Given the description of an element on the screen output the (x, y) to click on. 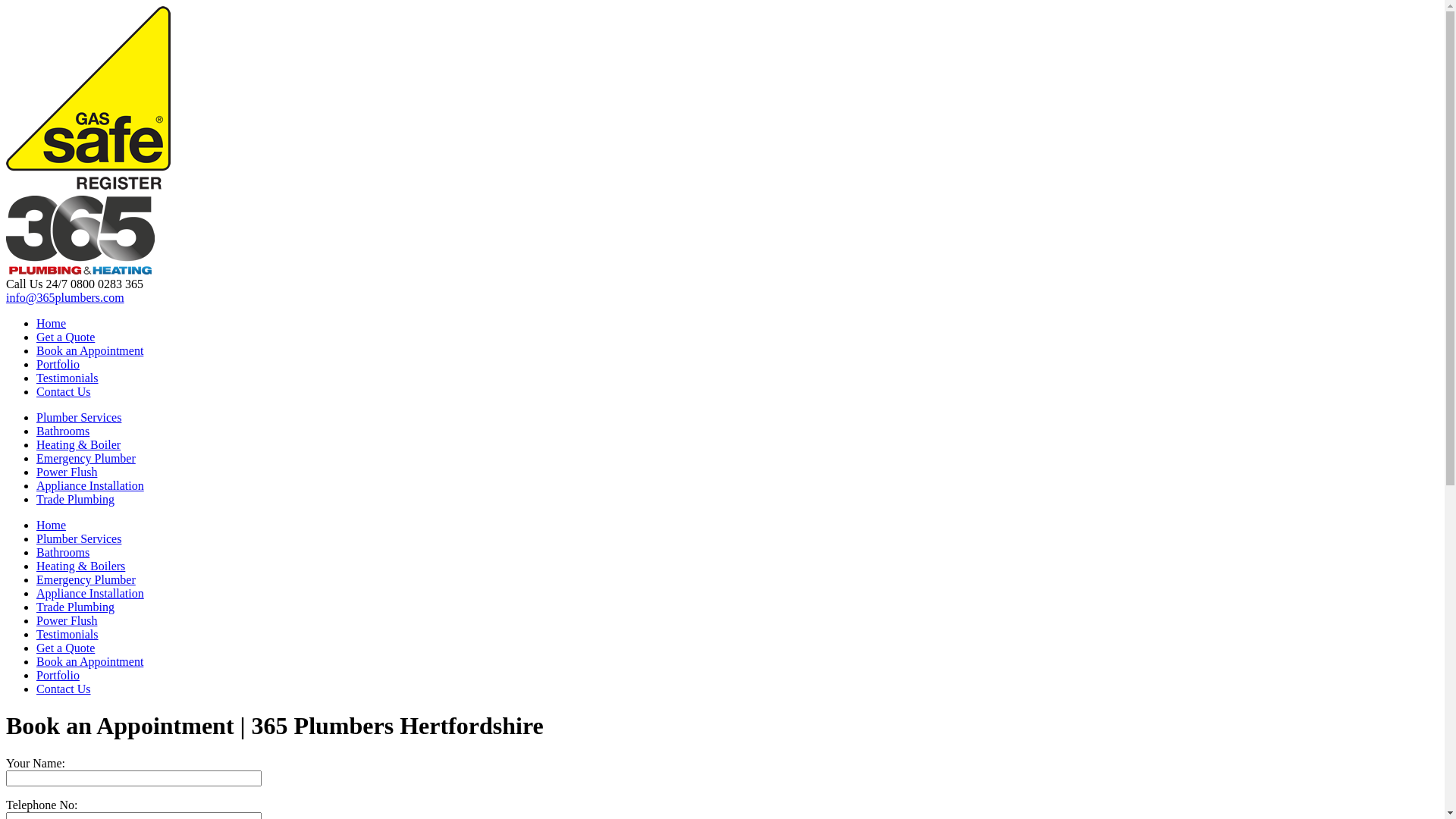
Book an Appointment Element type: text (89, 350)
Testimonials Element type: text (67, 377)
Home Element type: text (50, 322)
Plumber Services Element type: text (78, 538)
Power Flush Element type: text (66, 471)
Heating & Boilers Element type: text (80, 565)
Appliance Installation Element type: text (90, 485)
Plumber Services Element type: text (78, 417)
Book an Appointment Element type: text (89, 661)
info@365plumbers.com Element type: text (65, 297)
Get a Quote Element type: text (65, 647)
Appliance Installation Element type: text (90, 592)
Bathrooms Element type: text (62, 552)
Trade Plumbing Element type: text (75, 498)
Contact Us Element type: text (63, 391)
Contact Us Element type: text (63, 688)
Heating & Boiler Element type: text (78, 444)
Portfolio Element type: text (57, 363)
Get a Quote Element type: text (65, 336)
Emergency Plumber Element type: text (85, 579)
Bathrooms Element type: text (62, 430)
Portfolio Element type: text (57, 674)
Power Flush Element type: text (66, 620)
Testimonials Element type: text (67, 633)
Home Element type: text (50, 524)
Emergency Plumber Element type: text (85, 457)
Trade Plumbing Element type: text (75, 606)
